Given the description of an element on the screen output the (x, y) to click on. 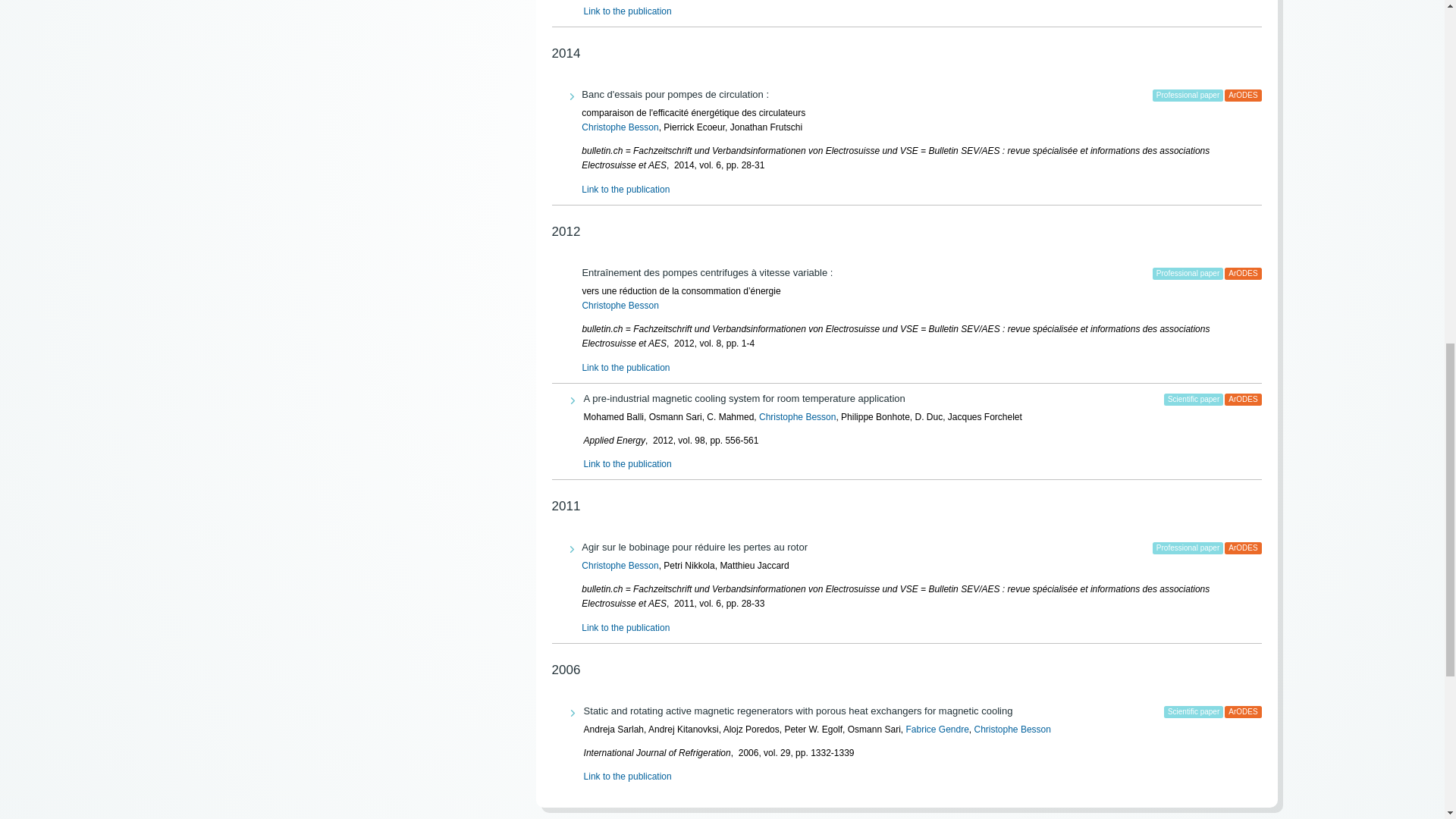
Link to the publication (624, 367)
Christophe Besson (619, 127)
Link to the publication (624, 189)
Link to the publication (627, 10)
Christophe Besson (619, 305)
